Given the description of an element on the screen output the (x, y) to click on. 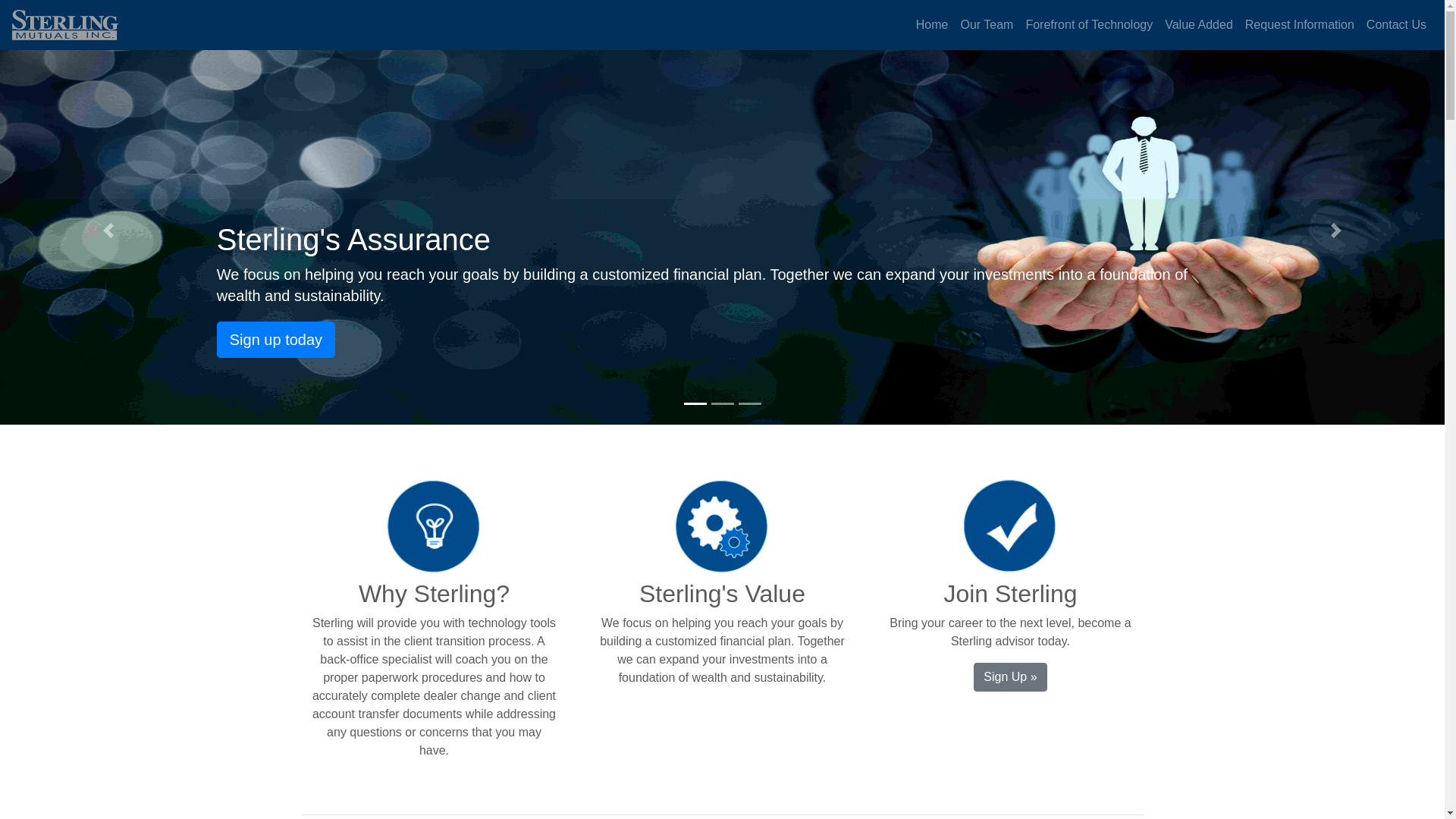
Our Team (986, 24)
Contact Us (1395, 24)
Request Information (1299, 24)
Forefront of Technology (1088, 24)
Value Added (1198, 24)
Sign up today (275, 339)
